Given the description of an element on the screen output the (x, y) to click on. 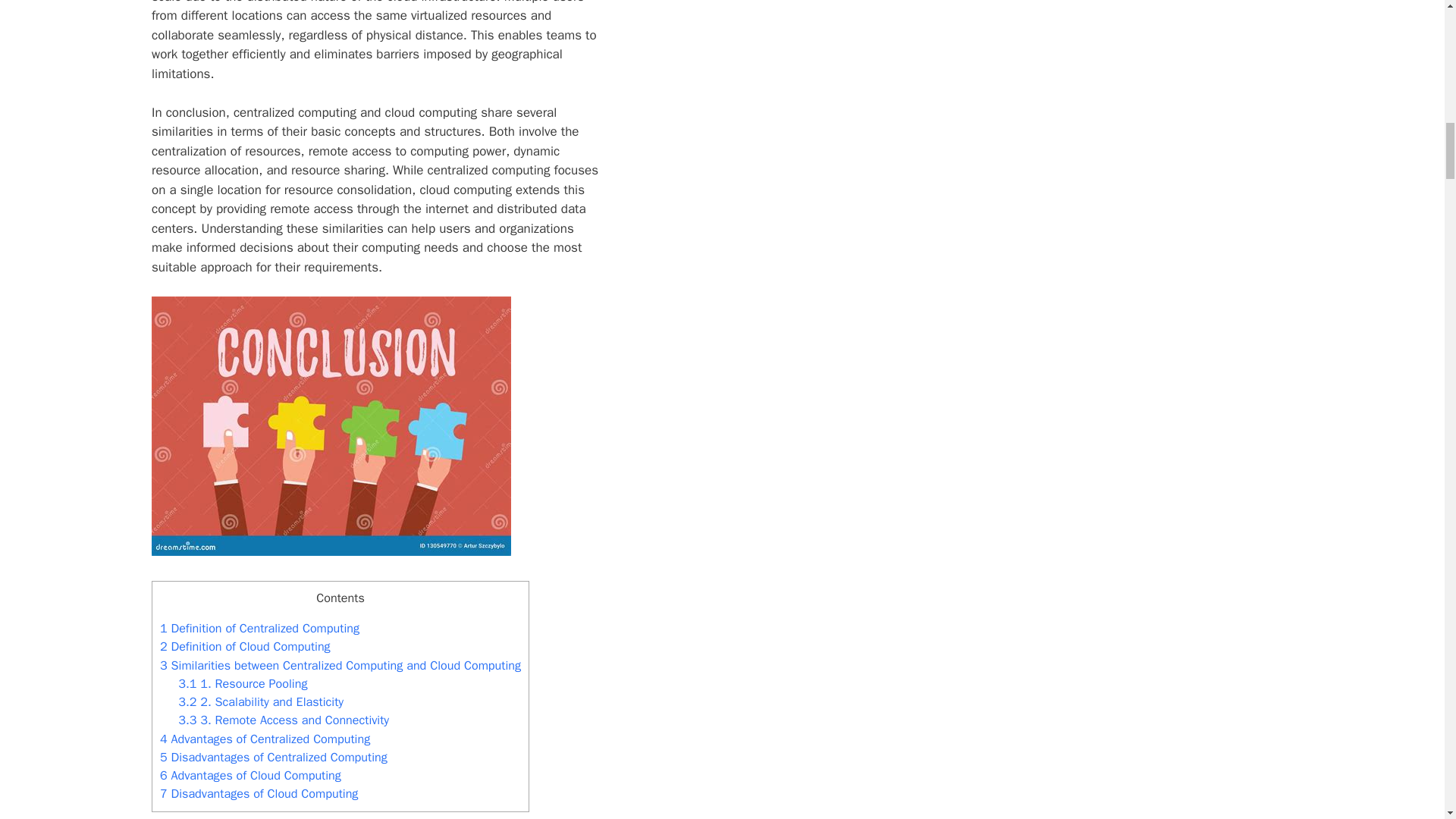
3.1 1. Resource Pooling (242, 683)
2 Definition of Cloud Computing (245, 646)
3.2 2. Scalability and Elasticity (260, 701)
5 Disadvantages of Centralized Computing (273, 756)
3.3 3. Remote Access and Connectivity (282, 719)
6 Advantages of Cloud Computing (250, 774)
4 Advantages of Centralized Computing (264, 738)
7 Disadvantages of Cloud Computing (259, 793)
1 Definition of Centralized Computing (259, 627)
